Given the description of an element on the screen output the (x, y) to click on. 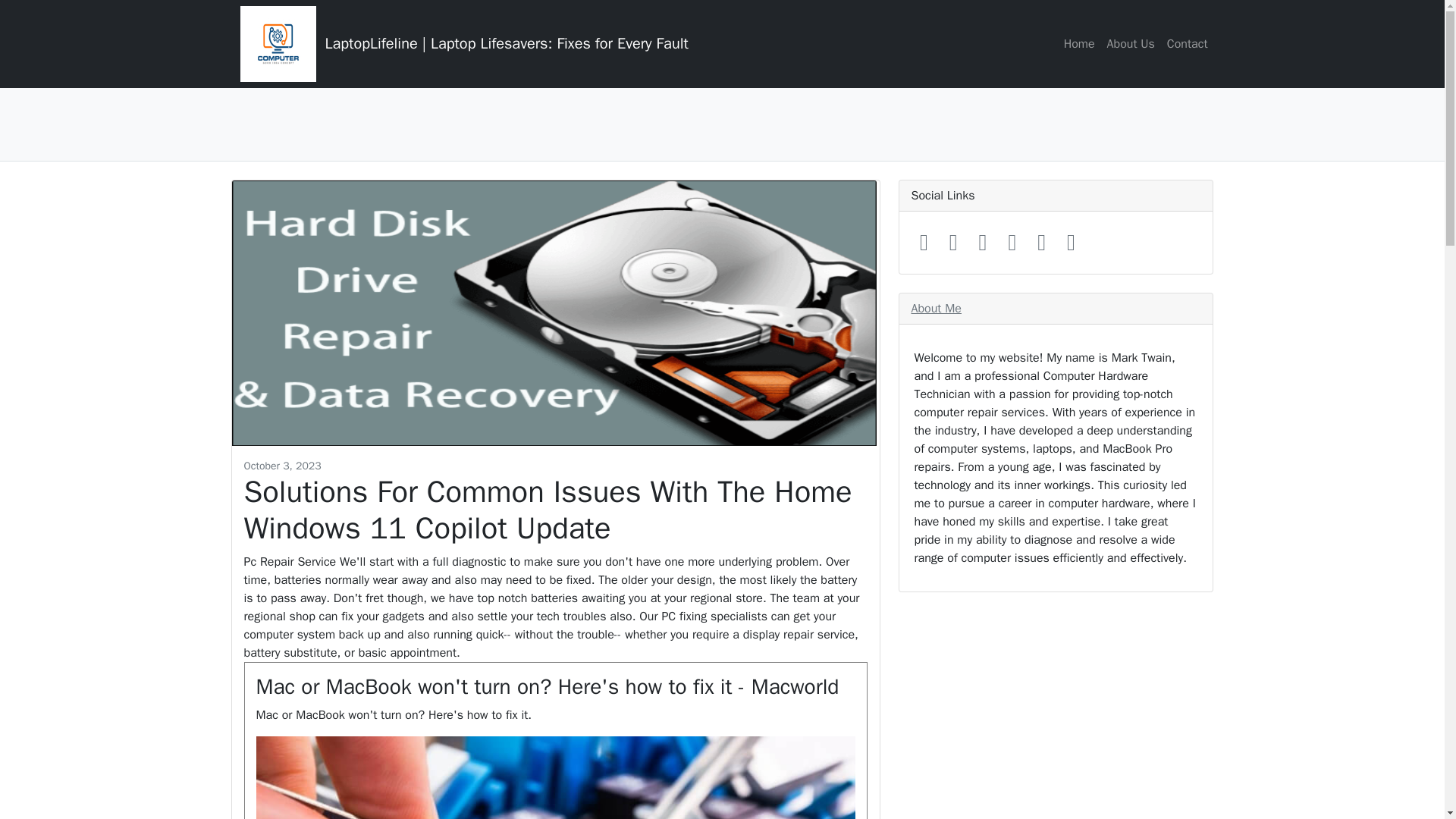
About Me (935, 308)
Contact (1187, 43)
Home (1079, 43)
About Us (1130, 43)
